Given the description of an element on the screen output the (x, y) to click on. 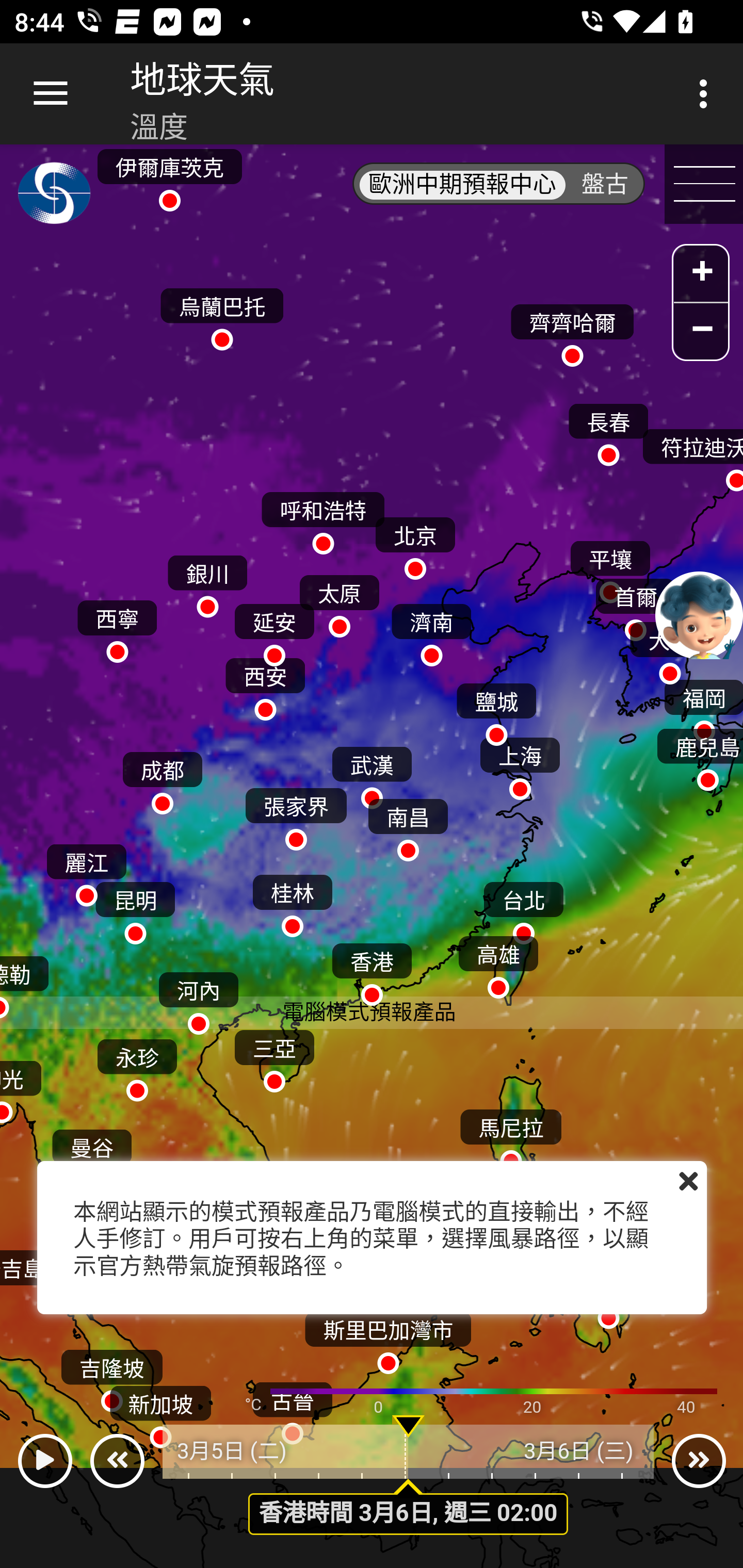
向上瀏覽 (50, 93)
更多選項 (706, 93)
香港天文台 (54, 197)
菜單按鈕 (703, 184)
伊爾庫茨克 (169, 174)
歐洲中期預報中心 (461, 184)
盤古 (604, 184)
Zoom in (700, 275)
烏蘭巴托 (222, 314)
齊齊哈爾 (572, 330)
Zoom out (700, 331)
長春 (608, 429)
符拉迪沃斯托克 (691, 456)
呼和浩特 (323, 518)
北京 (414, 543)
平壤 (609, 567)
銀川 (207, 581)
聊天機械人 (699, 614)
太原 (338, 600)
首爾 (634, 604)
西寧 (117, 625)
延安 (273, 629)
濟南 (431, 629)
西安 (264, 683)
福岡 (702, 705)
鹽城 (495, 709)
鹿兒島 (699, 755)
上海 (519, 763)
武漢 (371, 772)
成都 (161, 778)
張家界 (295, 815)
南昌 (407, 825)
麗江 (85, 870)
桂林 (292, 901)
昆明 (134, 908)
台北 (523, 908)
高雄 (497, 962)
香港 (371, 970)
河內 (197, 998)
三亞 (273, 1055)
永珍 (136, 1066)
馬尼拉 (510, 1134)
曼谷 (91, 1155)
 (687, 1181)
斯里巴加灣市 (388, 1337)
吉隆坡 (111, 1376)
古晉 (292, 1408)
新加坡 (160, 1412)
 (44, 1461)
上一時段 (117, 1461)
下一時段 (699, 1461)
